Given the description of an element on the screen output the (x, y) to click on. 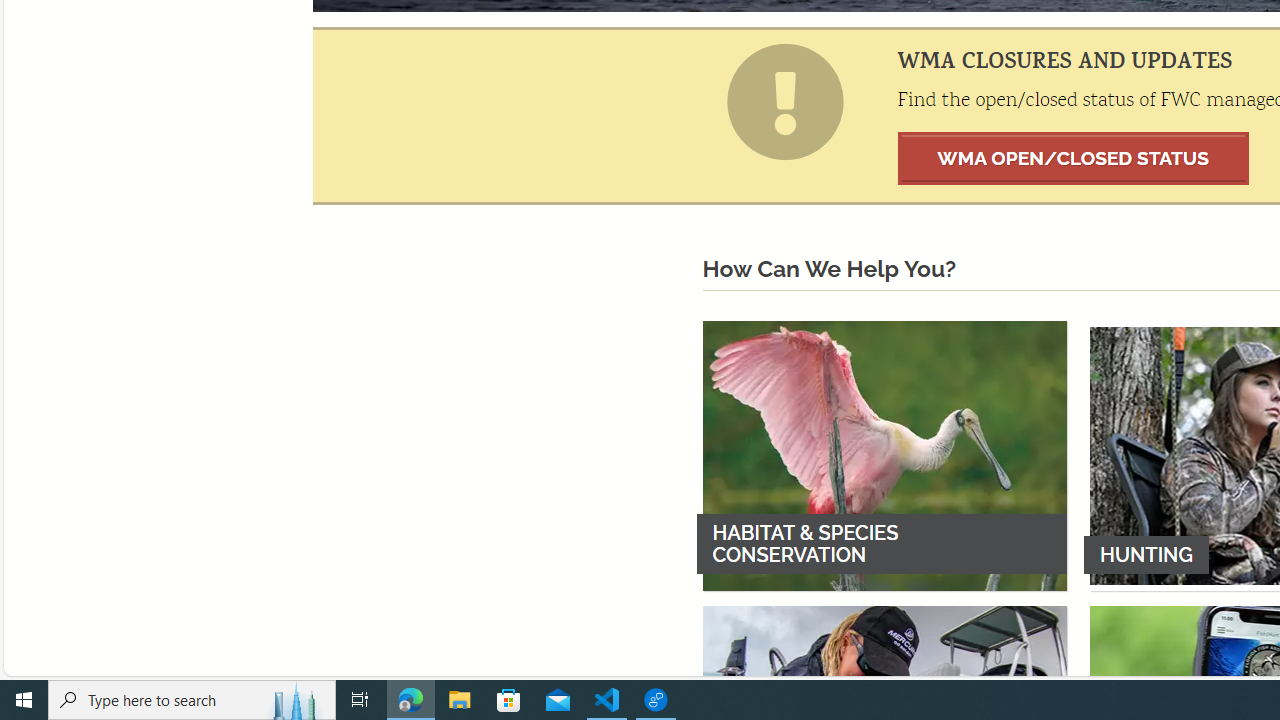
HABITAT & SPECIES CONSERVATION (884, 455)
WMA OPEN/CLOSED STATUS (1073, 158)
